Given the description of an element on the screen output the (x, y) to click on. 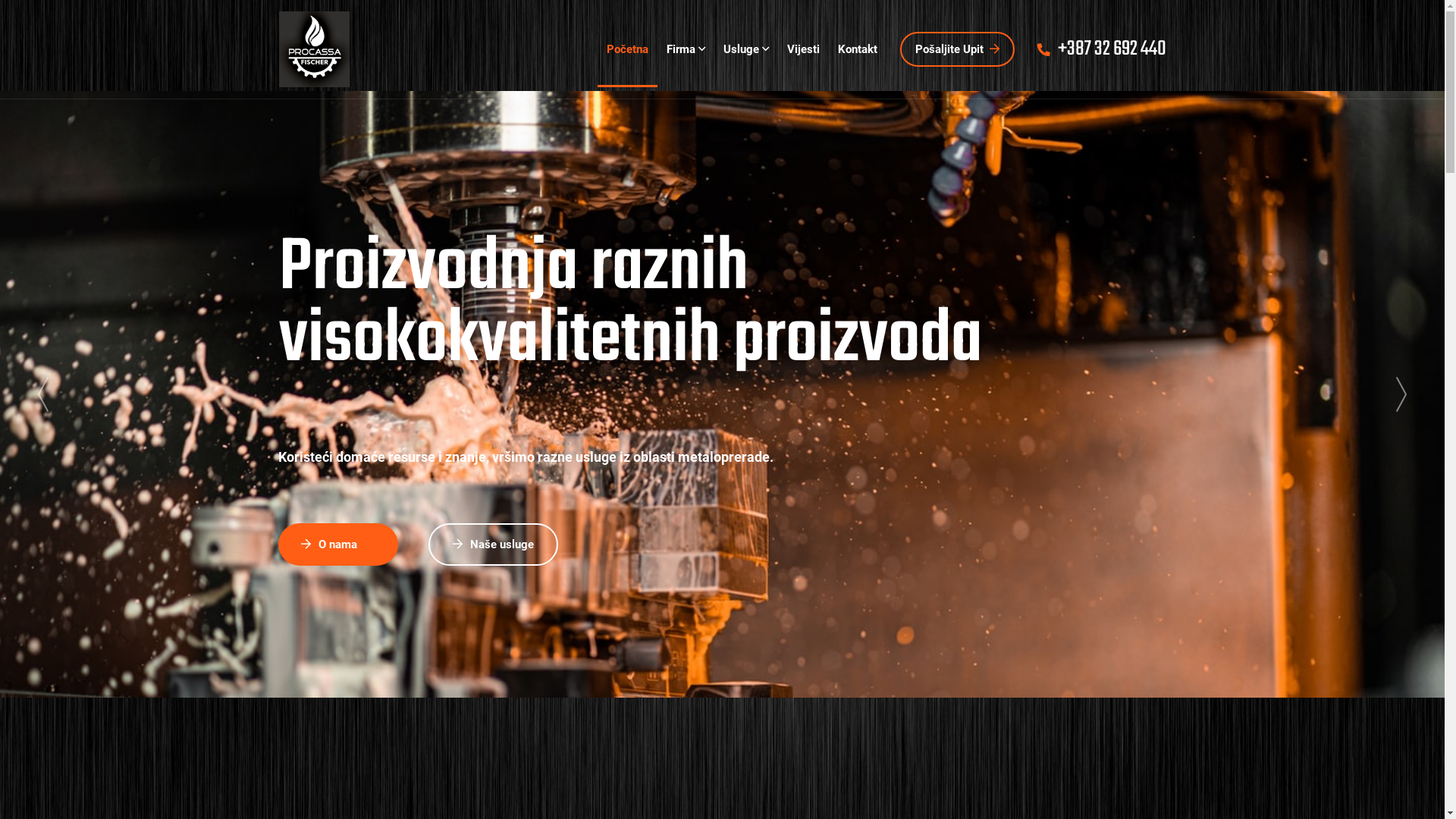
Vijesti Element type: text (803, 49)
Firma Element type: text (684, 49)
O nama Element type: text (338, 544)
+387 32 692 440 Element type: text (1101, 49)
Procassa-Fischer Element type: hover (314, 49)
Kontakt Element type: text (856, 49)
Usluge Element type: text (746, 49)
